Given the description of an element on the screen output the (x, y) to click on. 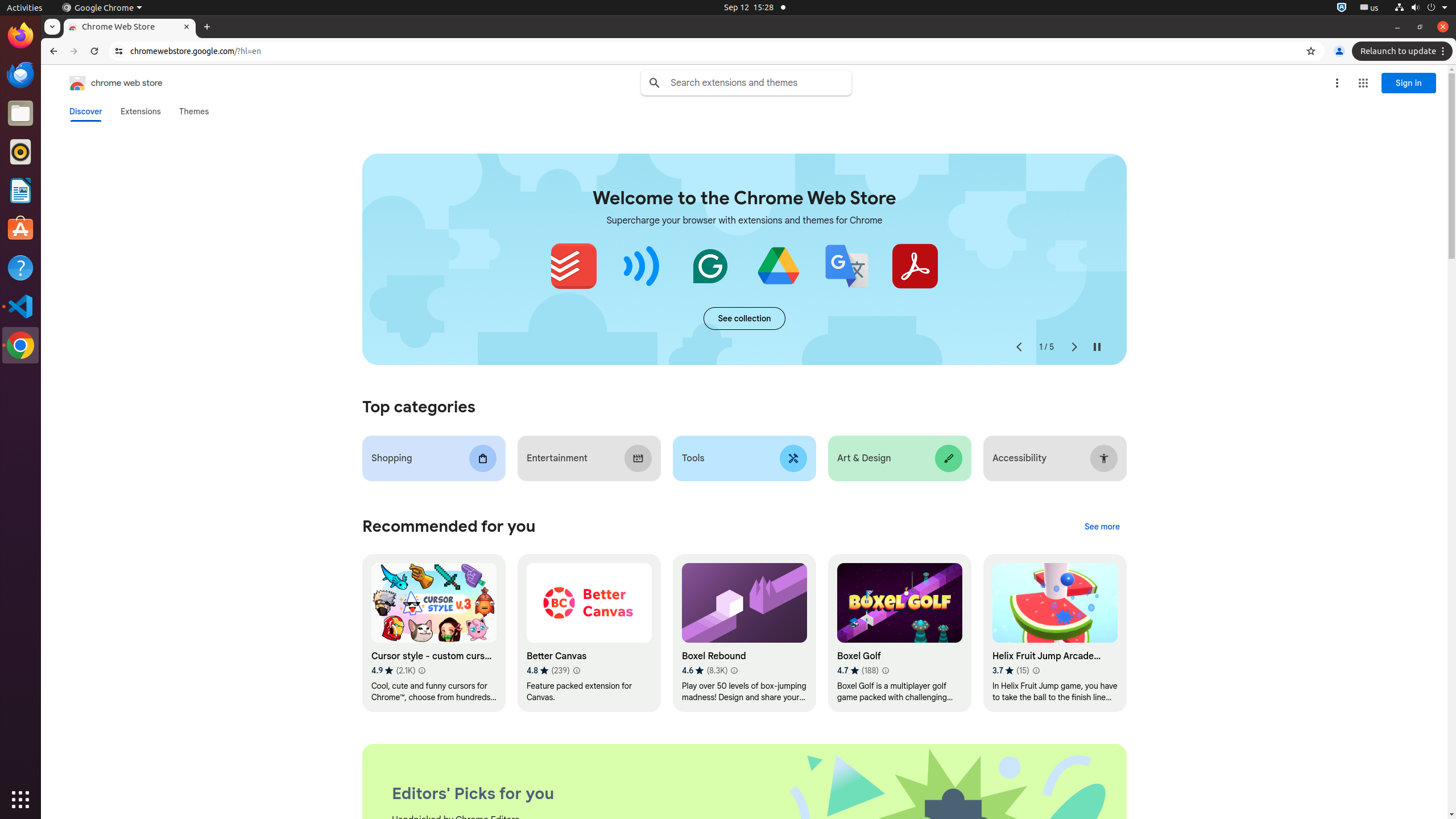
Todoist for Chrome Element type: link (573, 266)
Learn more about results and reviews "Boxel Rebound" Element type: push-button (733, 670)
Helix Fruit Jump Arcade Game Element type: link (1054, 632)
See more of the "Extensions starter kit" collection Element type: link (743, 318)
Chrome Web Store logo chrome web store Element type: link (103, 82)
